Given the description of an element on the screen output the (x, y) to click on. 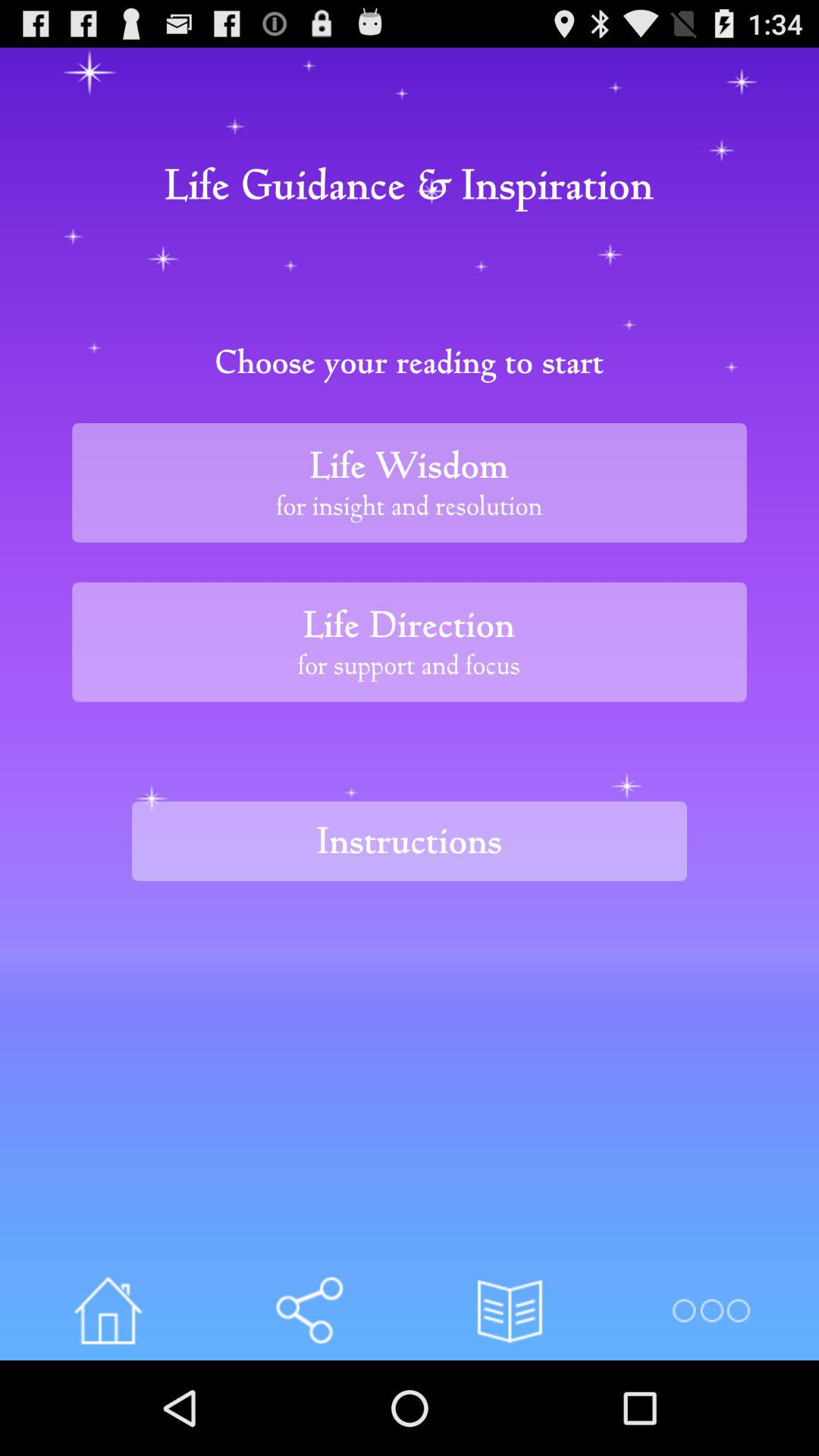
takes you home (107, 1310)
